Given the description of an element on the screen output the (x, y) to click on. 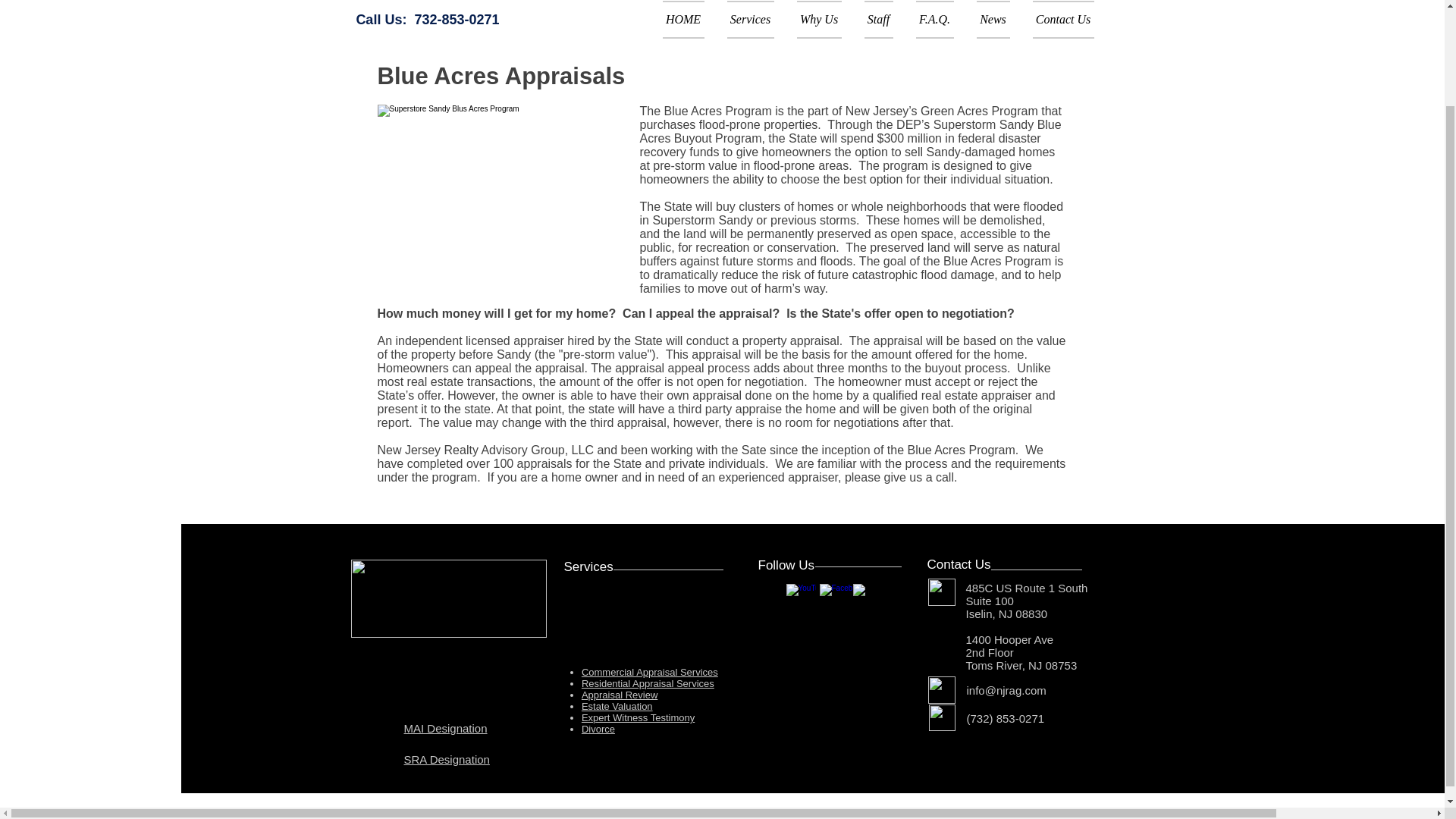
MAI Designation (444, 727)
HOME (689, 19)
Contact Us (1056, 19)
Commercial Appraisal Services (648, 672)
Residential Appraisal Services (647, 683)
Estate Valuation (616, 706)
Appraisal Review (619, 695)
F.A.Q. (933, 19)
SRA Designation (446, 758)
Staff (877, 19)
